Given the description of an element on the screen output the (x, y) to click on. 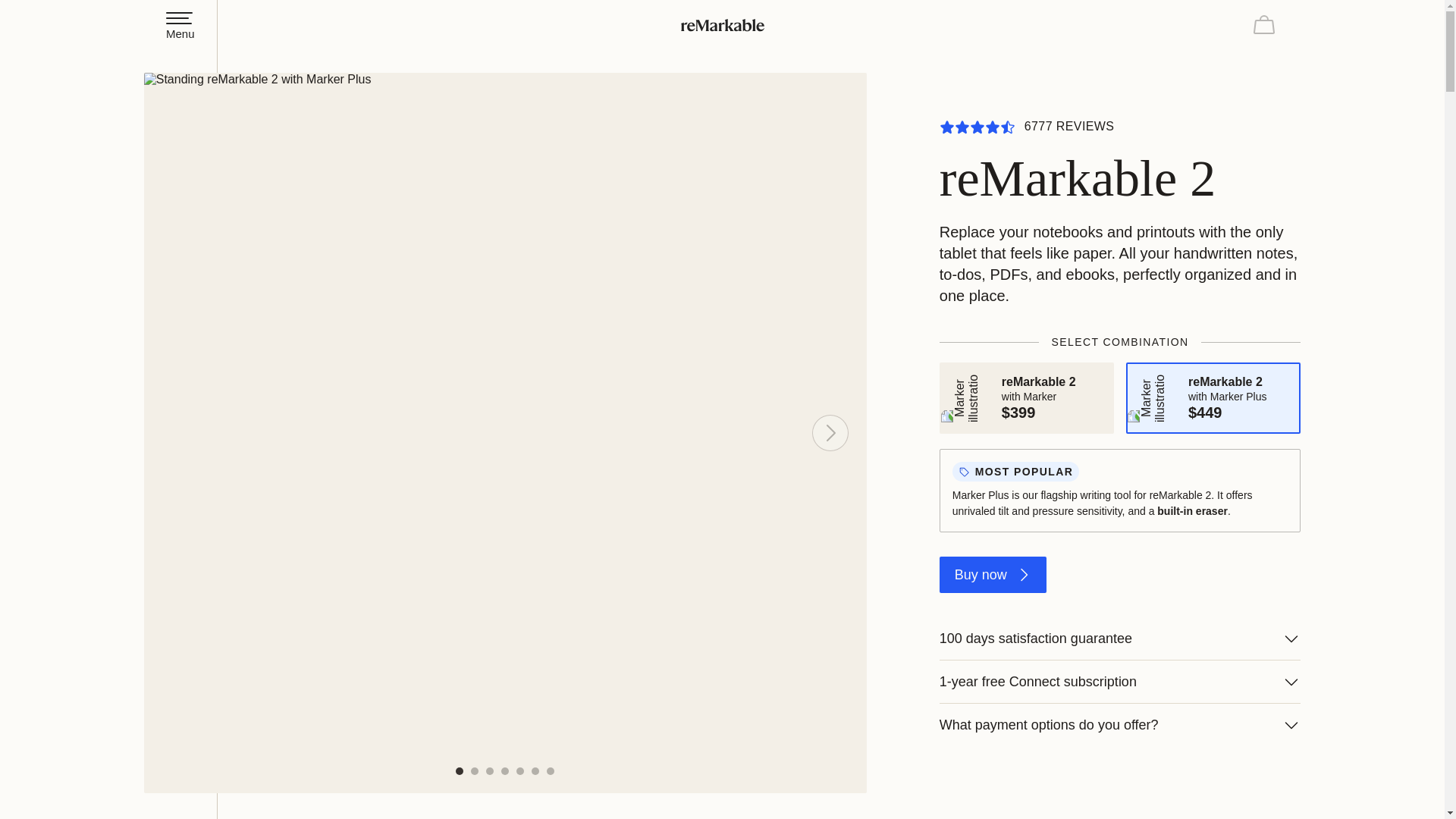
Menu (180, 25)
